Given the description of an element on the screen output the (x, y) to click on. 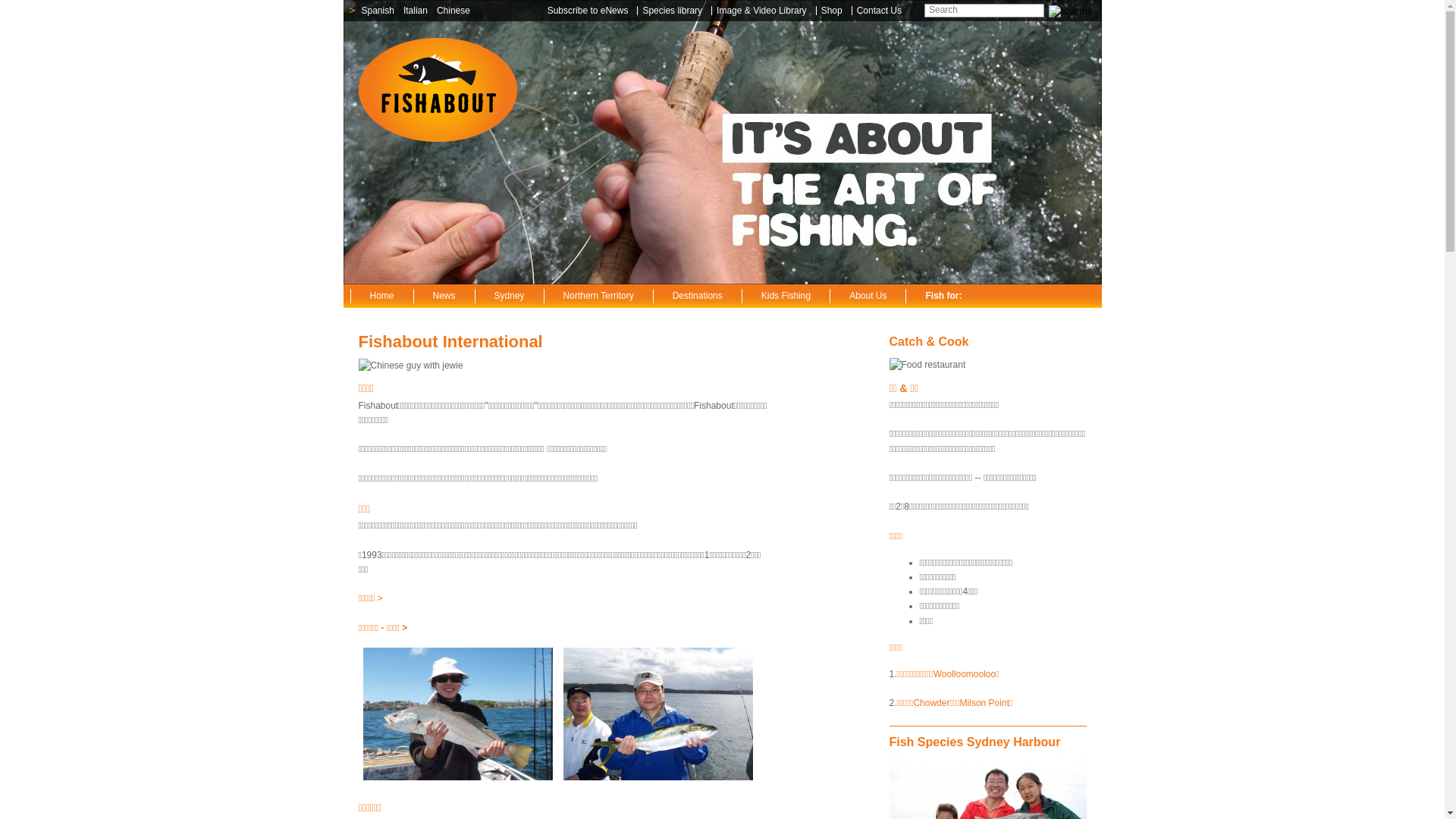
Home Element type: text (381, 295)
Chinese Element type: text (453, 10)
About Us Element type: text (867, 295)
Italian Element type: text (415, 10)
Spanish Element type: text (377, 10)
Shop Element type: text (834, 10)
Subscribe to eNews Element type: text (590, 10)
Destinations Element type: text (696, 295)
Northern Territory Element type: text (597, 295)
News Element type: text (443, 295)
Sydney Element type: text (508, 295)
Image & Video Library Element type: text (764, 10)
Kids Fishing Element type: text (785, 295)
Contact Us Element type: text (881, 10)
Fishabout Element type: text (436, 89)
Species library Element type: text (674, 10)
